Given the description of an element on the screen output the (x, y) to click on. 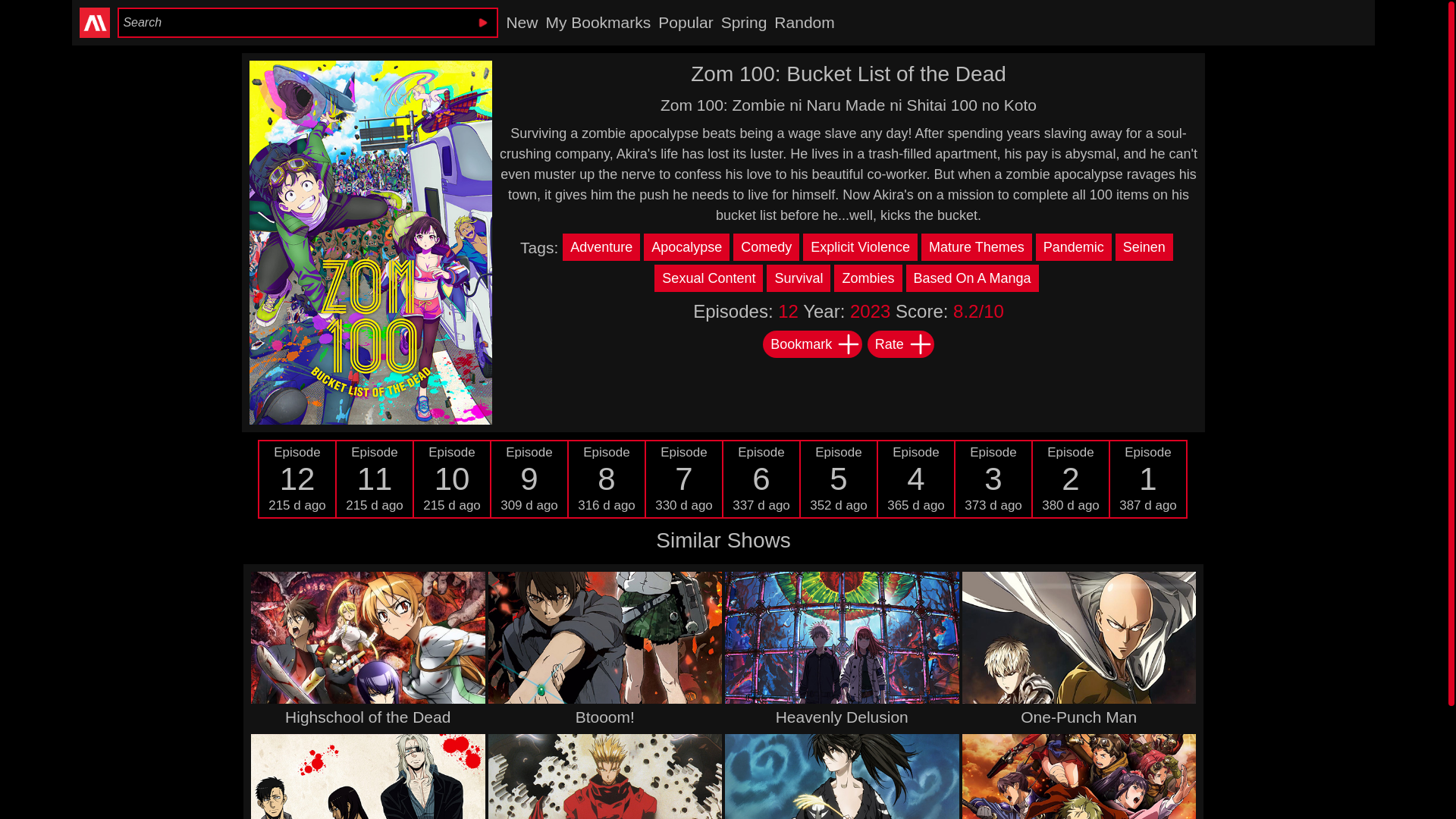
Comedy (1070, 478)
Mature Themes (916, 478)
Spring (768, 247)
Pandemic (761, 478)
Popular (838, 478)
My Bookmarks (978, 247)
Explicit Violence (374, 478)
